Given the description of an element on the screen output the (x, y) to click on. 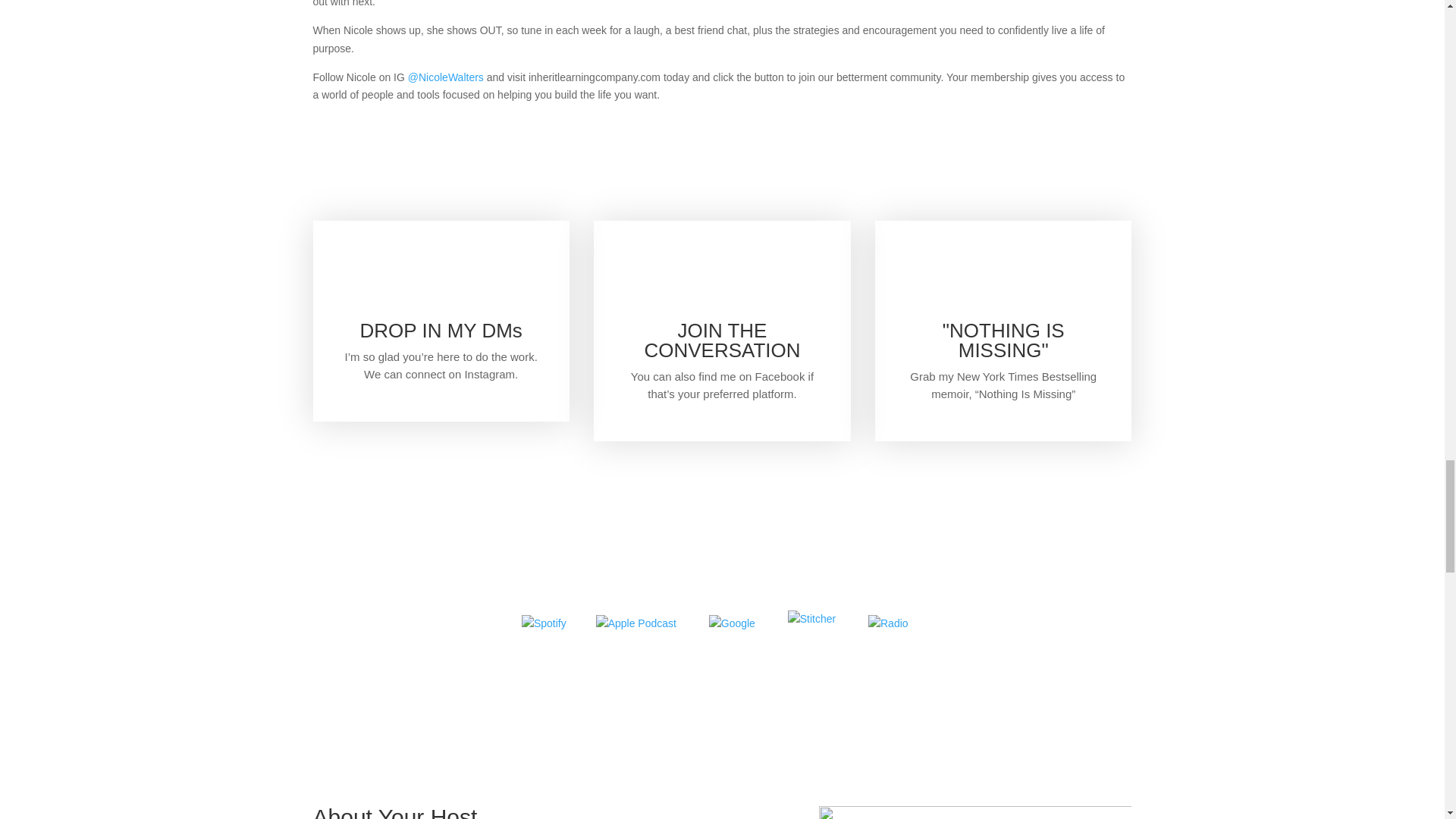
"NOTHING IS MISSING" (1003, 340)
DROP IN MY DMs (440, 330)
JOIN THE CONVERSATION (721, 340)
